Given the description of an element on the screen output the (x, y) to click on. 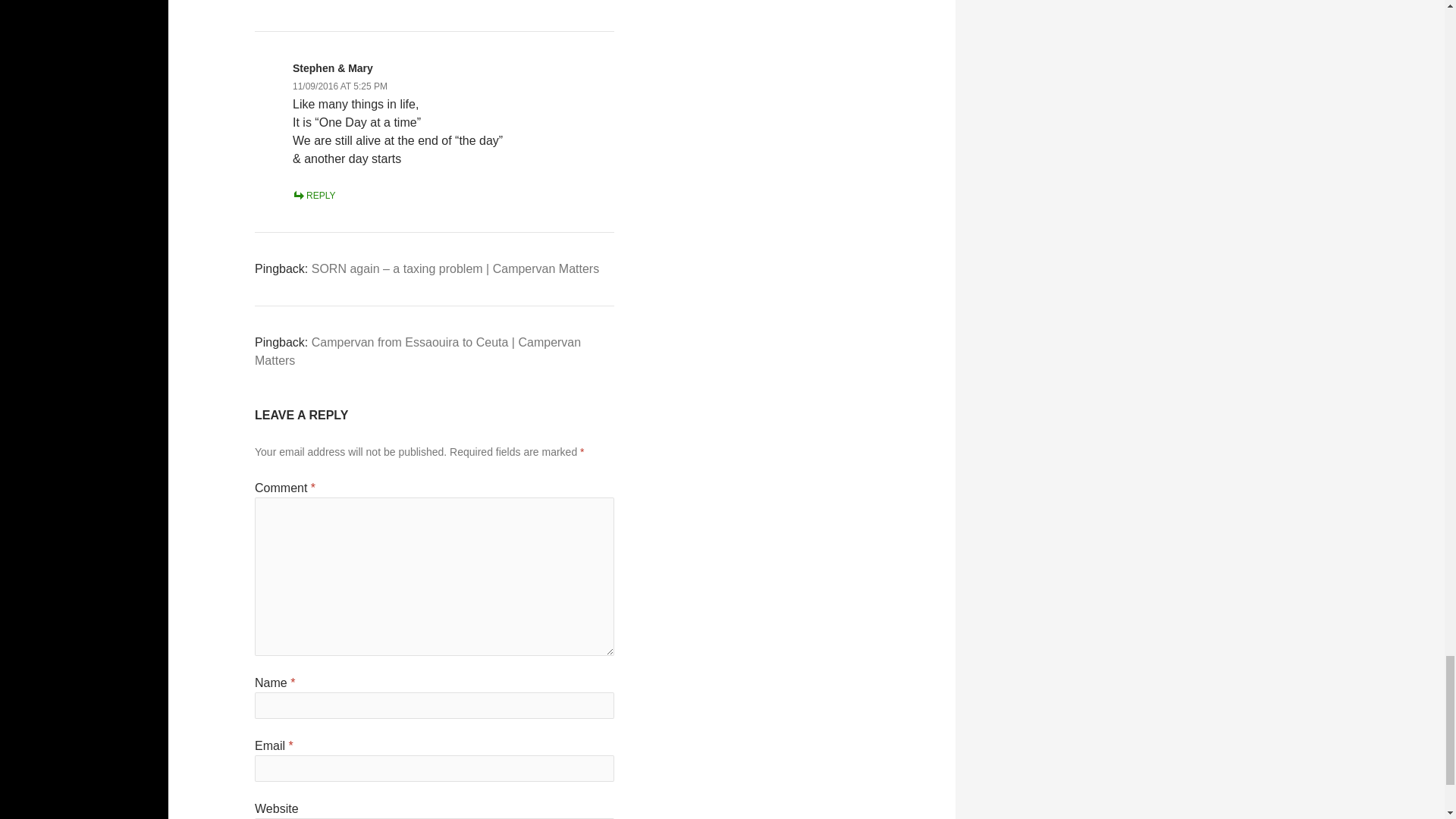
REPLY (313, 195)
